Given the description of an element on the screen output the (x, y) to click on. 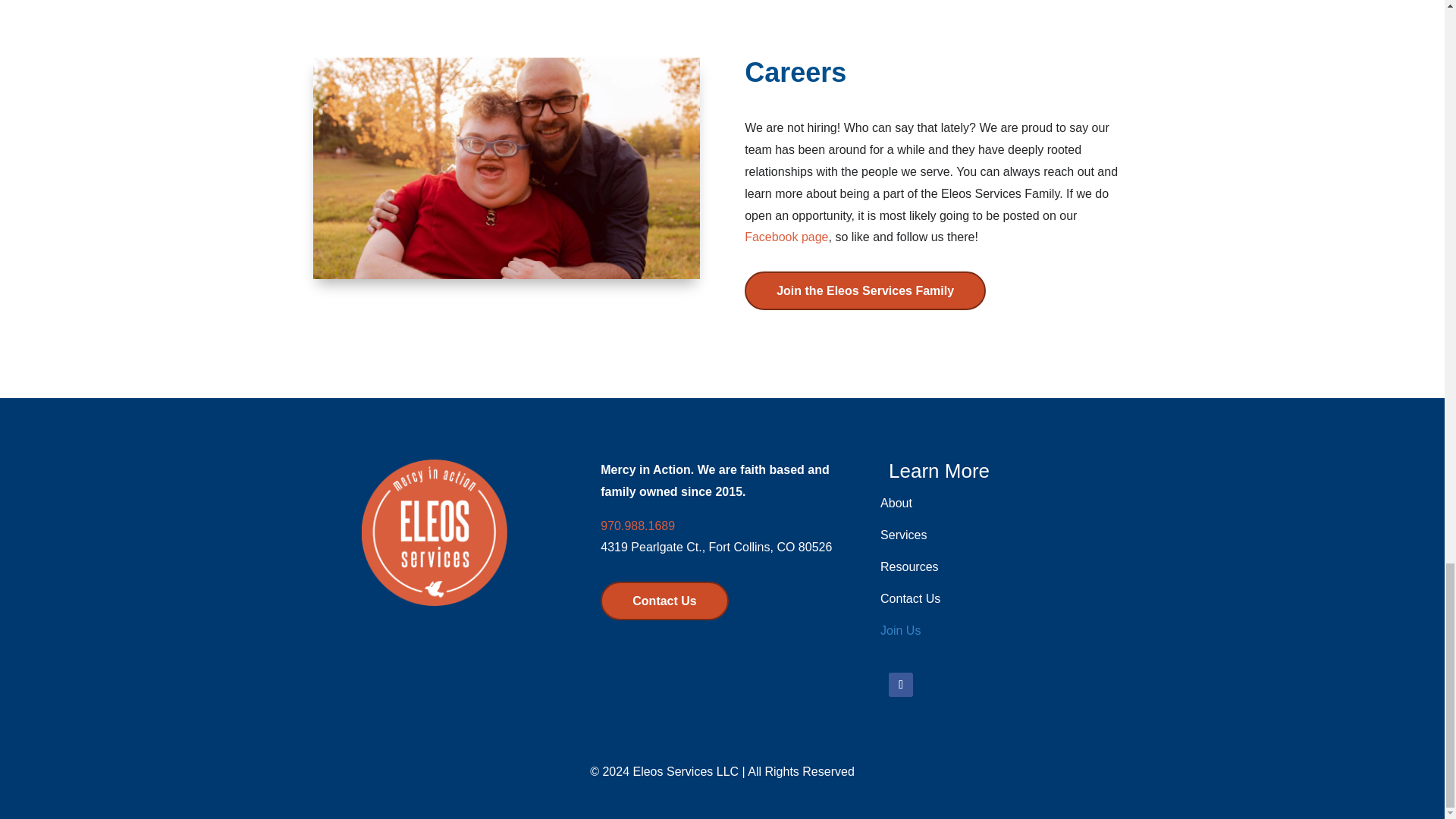
Facebook page (786, 236)
Join the Eleos Services Family (864, 290)
970.988.1689 (637, 525)
Join Us 3 (505, 168)
Follow on Facebook (900, 684)
Contact Us (663, 600)
